Given the description of an element on the screen output the (x, y) to click on. 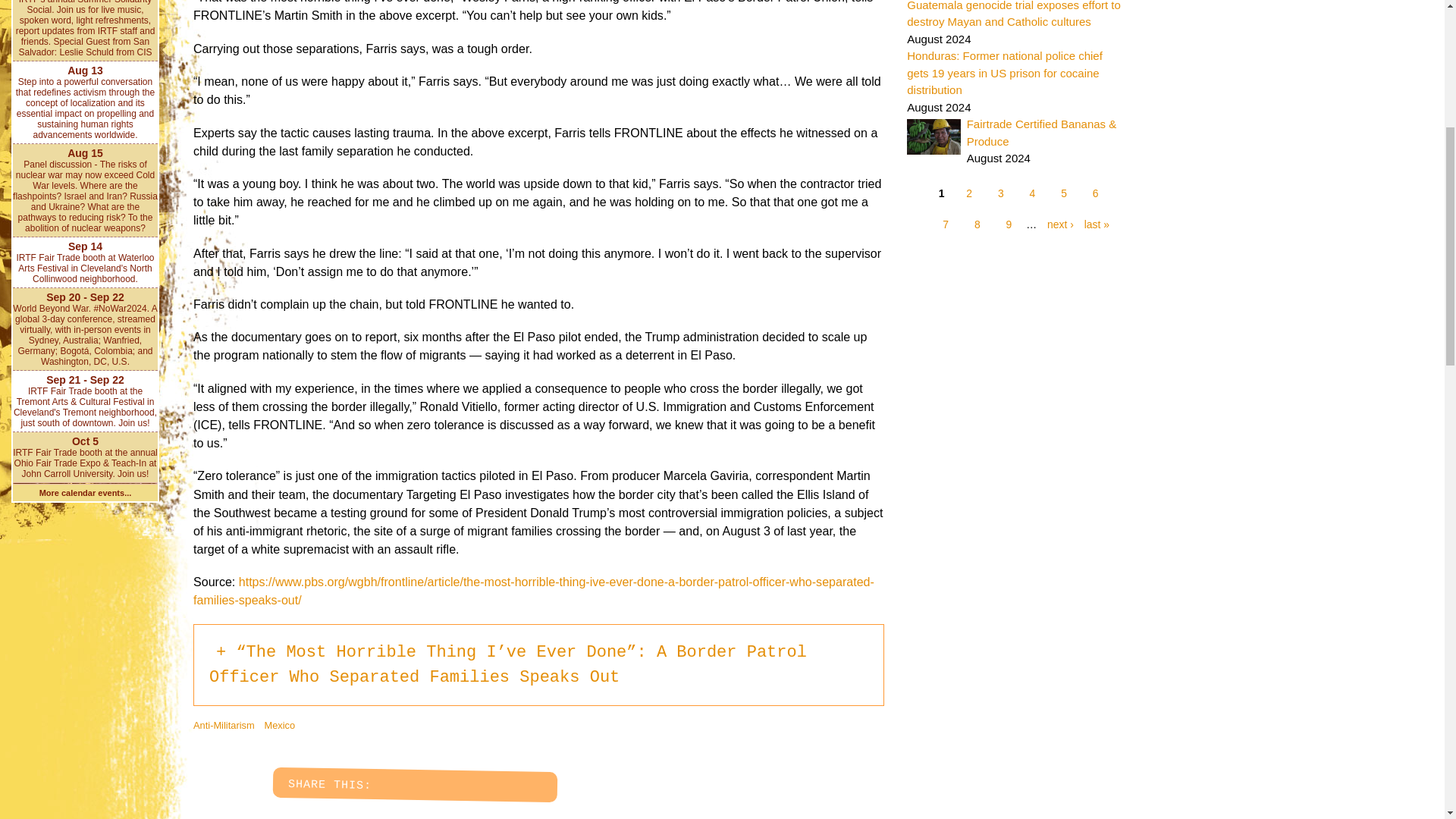
Go to page 7 (945, 224)
Go to page 2 (969, 193)
Go to page 9 (1008, 224)
Go to page 4 (1031, 193)
Go to next page (1056, 224)
Go to page 8 (976, 224)
Go to page 6 (1095, 193)
Go to last page (1093, 224)
Go to page 5 (1063, 193)
Go to page 3 (1000, 193)
